Given the description of an element on the screen output the (x, y) to click on. 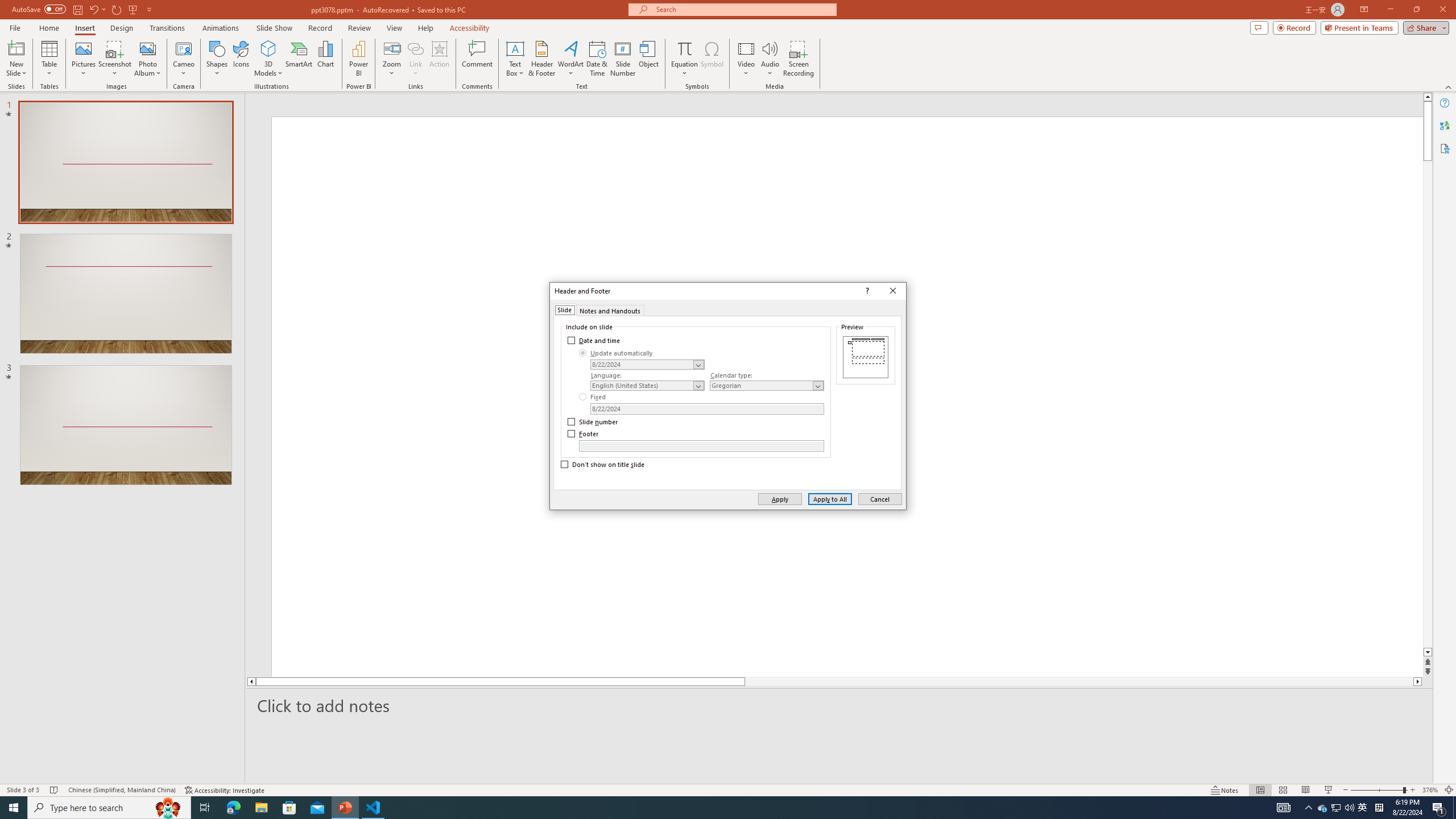
Language (646, 385)
3D Models (268, 58)
Icons (240, 58)
Link (415, 48)
Chart... (325, 58)
Footer (583, 433)
